Given the description of an element on the screen output the (x, y) to click on. 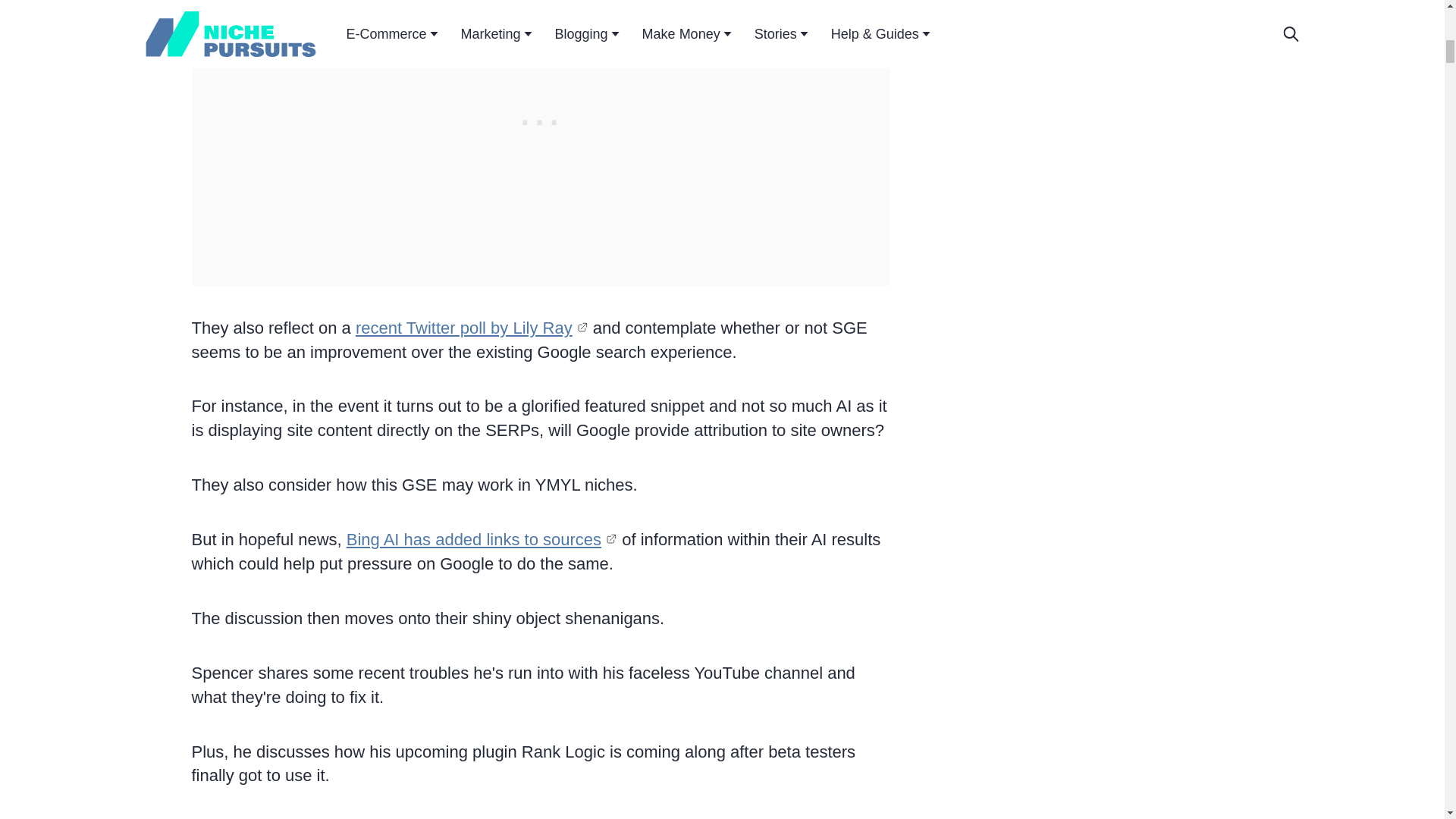
recent Twitter poll by Lily Ray (471, 327)
